Given the description of an element on the screen output the (x, y) to click on. 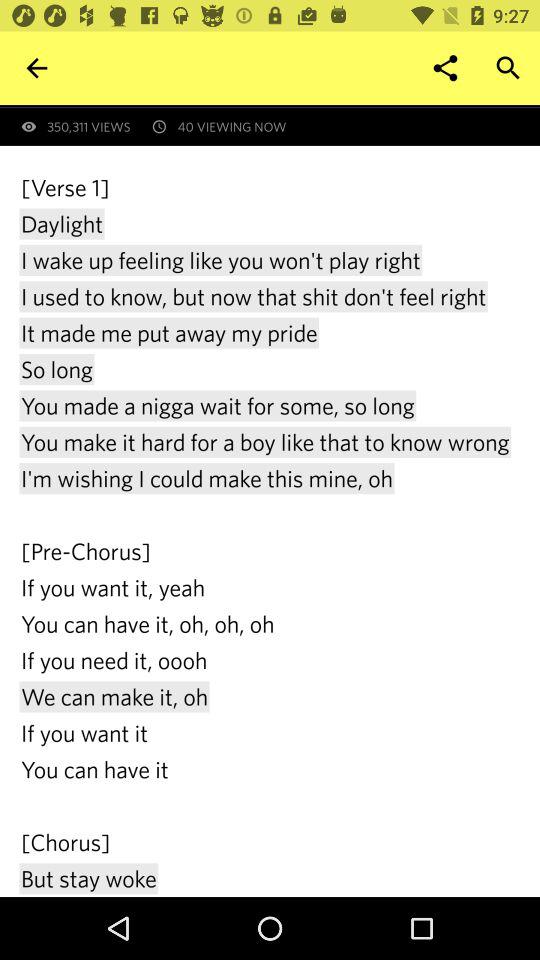
click icon to the right of 350,311 views icon (444, 67)
